Given the description of an element on the screen output the (x, y) to click on. 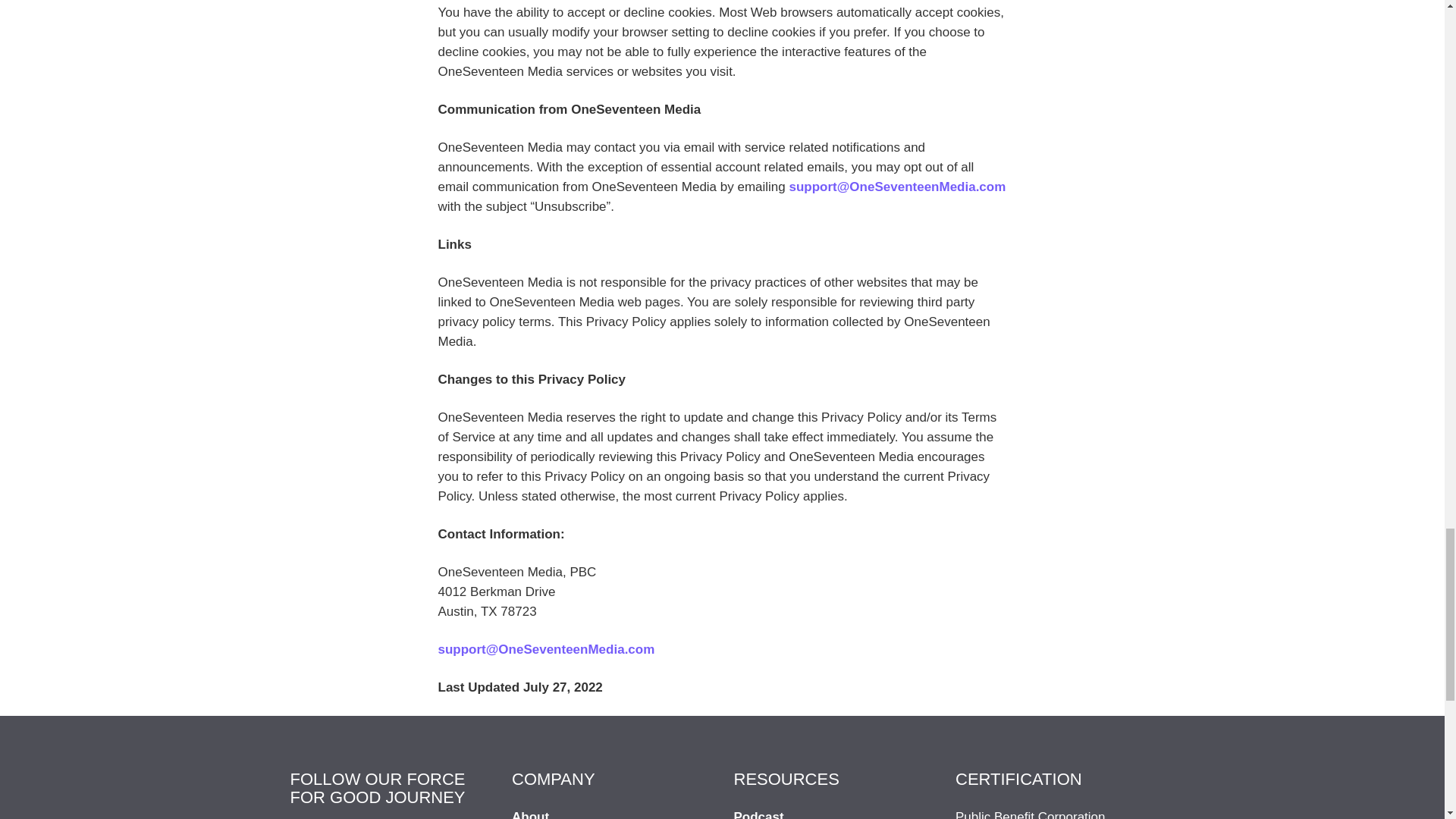
Podcast (758, 814)
About (530, 814)
